Given the description of an element on the screen output the (x, y) to click on. 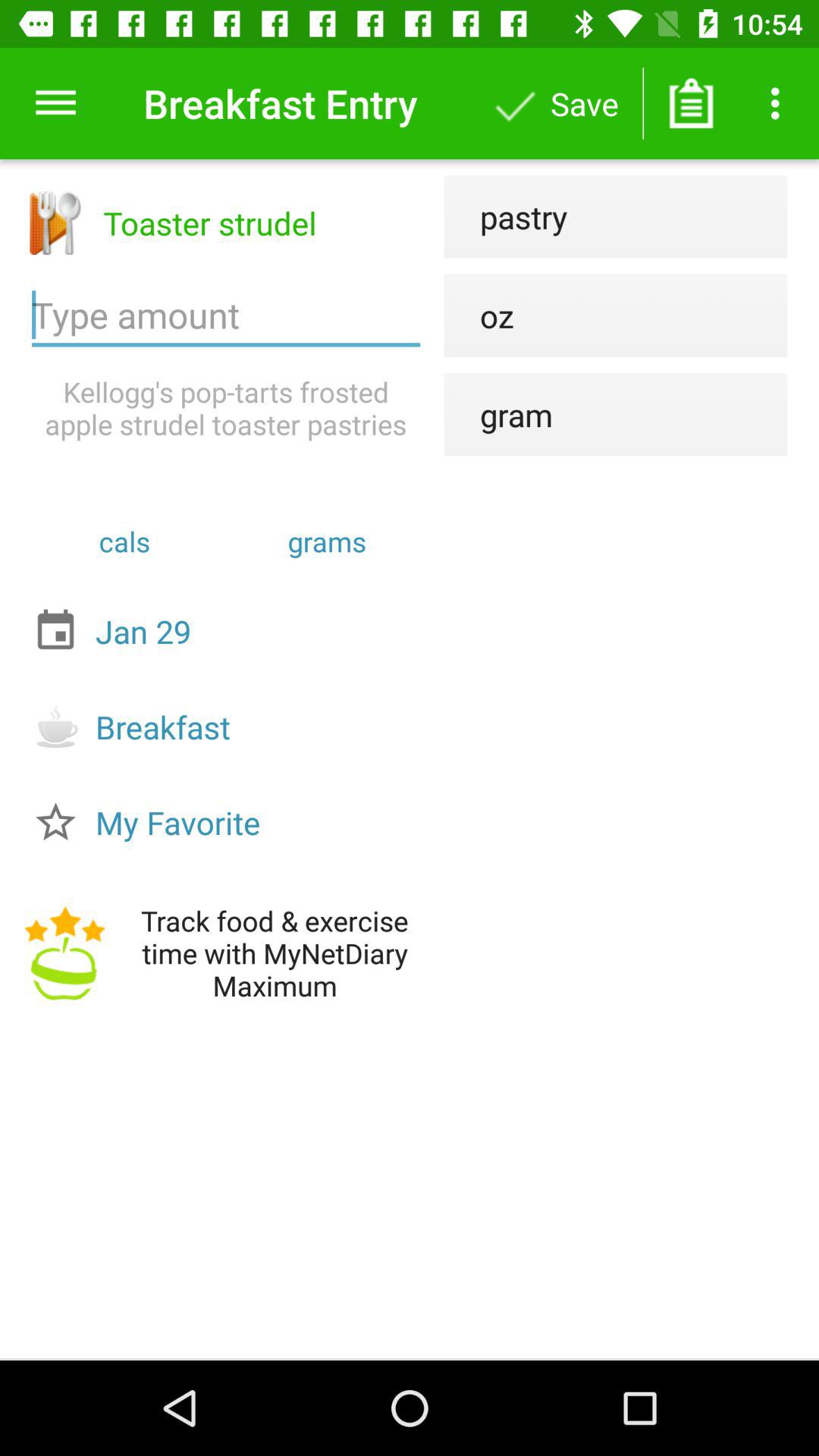
click item below the cals (229, 631)
